Given the description of an element on the screen output the (x, y) to click on. 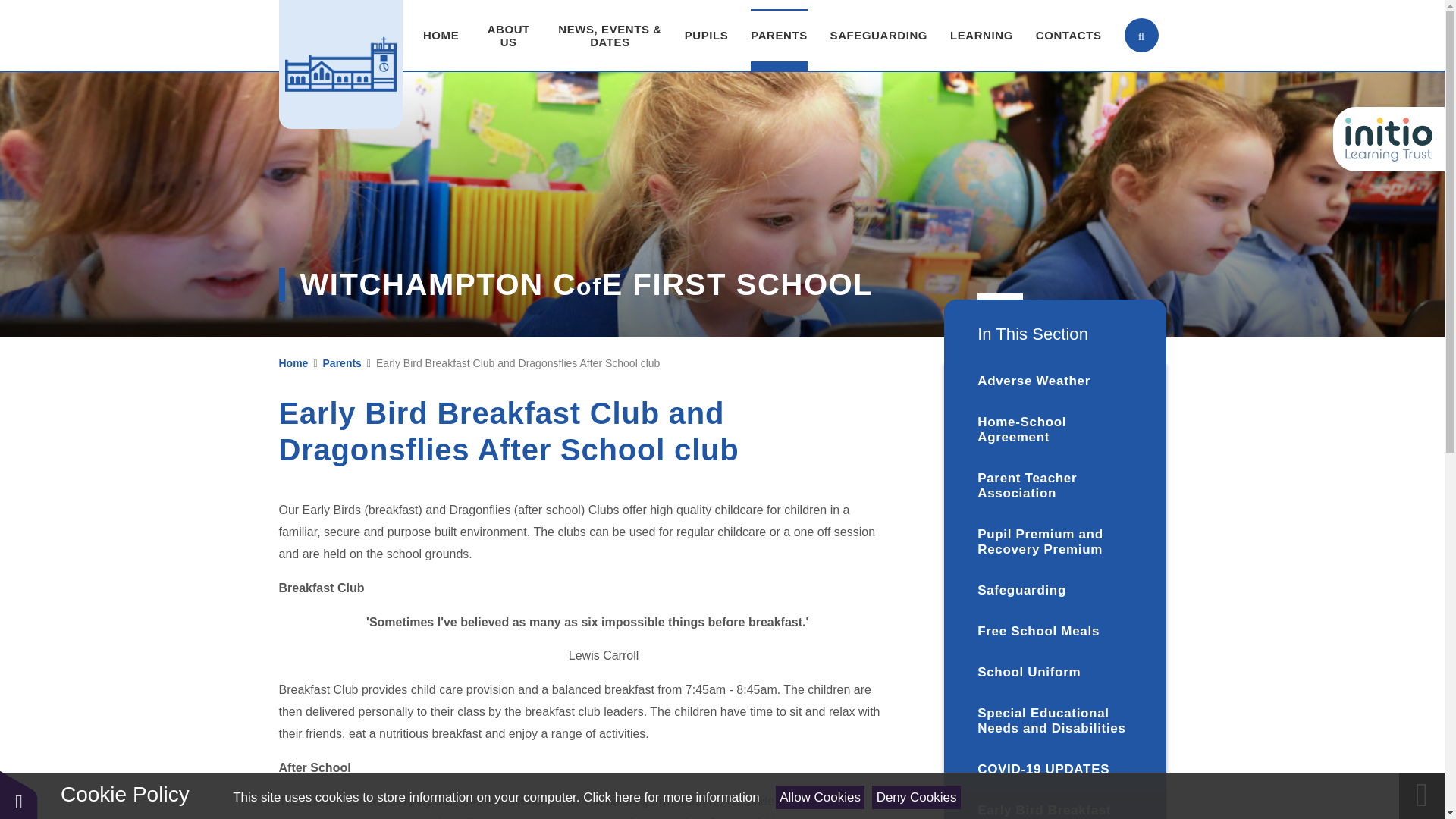
Allow Cookies (820, 797)
Deny Cookies (915, 797)
See cookie policy (670, 797)
ABOUT US (508, 35)
